Given the description of an element on the screen output the (x, y) to click on. 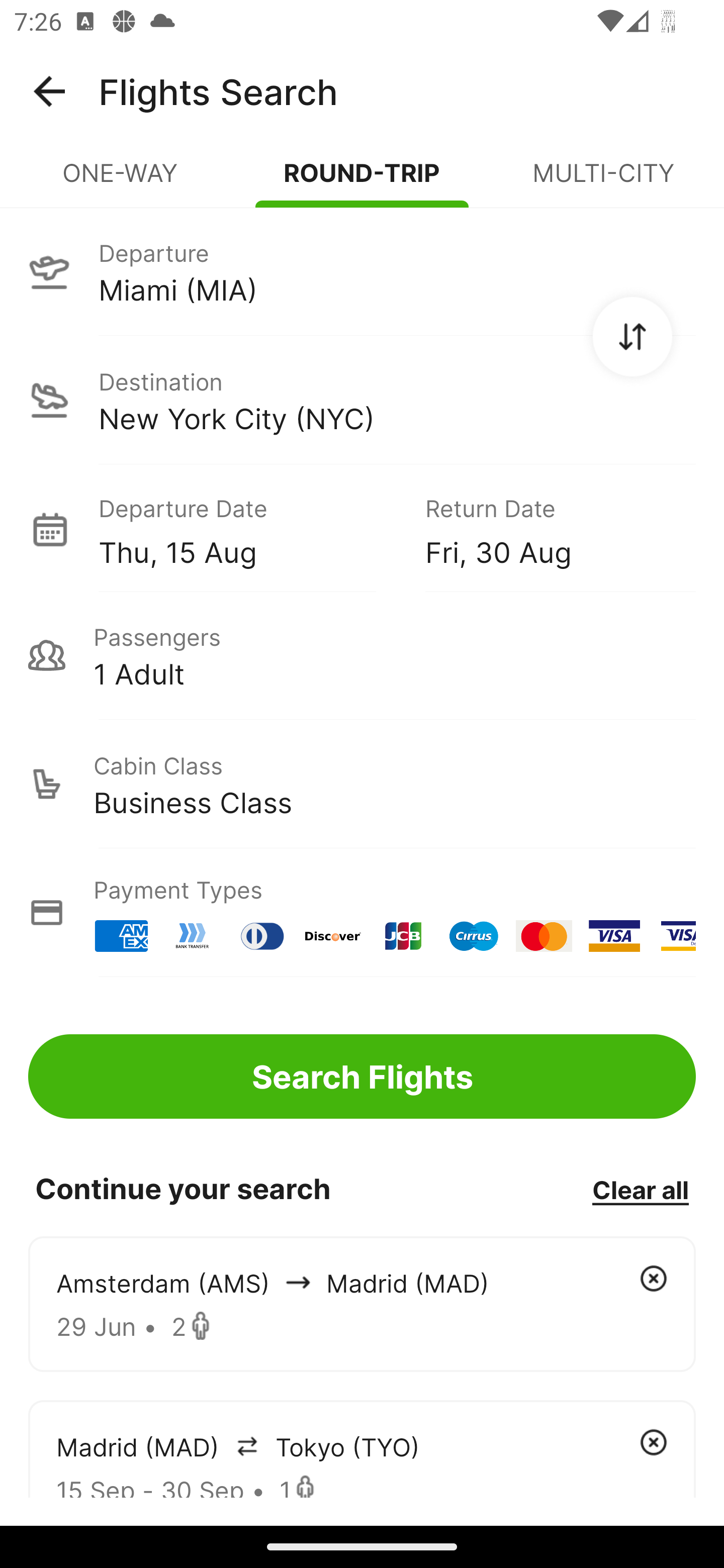
ONE-WAY (120, 180)
ROUND-TRIP (361, 180)
MULTI-CITY (603, 180)
Departure Miami (MIA) (362, 270)
Destination New York City (NYC) (362, 400)
Departure Date Thu, 15 Aug (247, 528)
Return Date Fri, 30 Aug (546, 528)
Passengers 1 Adult (362, 655)
Cabin Class Business Class (362, 783)
Payment Types (362, 912)
Search Flights (361, 1075)
Clear all (640, 1189)
